Given the description of an element on the screen output the (x, y) to click on. 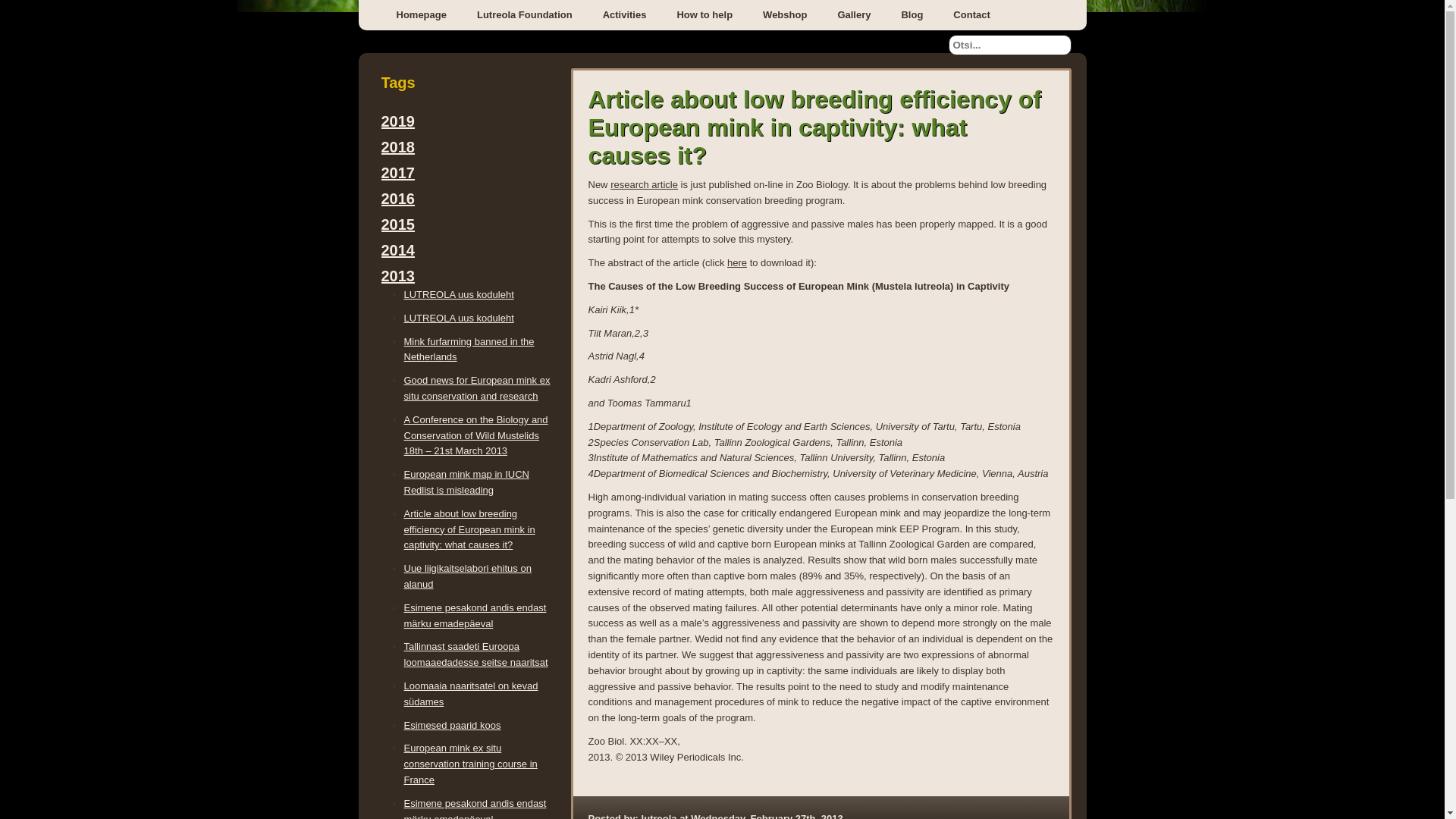
2016 (397, 198)
research article (644, 184)
2015 (397, 224)
Homepage (420, 15)
Activities (625, 15)
How to help (704, 15)
2014 (397, 249)
Otsing (29, 12)
2013 (397, 275)
2018 (397, 146)
here (736, 262)
European mink map in IUCN Redlist is misleading (465, 482)
2017 (397, 172)
Webshop (785, 15)
